Given the description of an element on the screen output the (x, y) to click on. 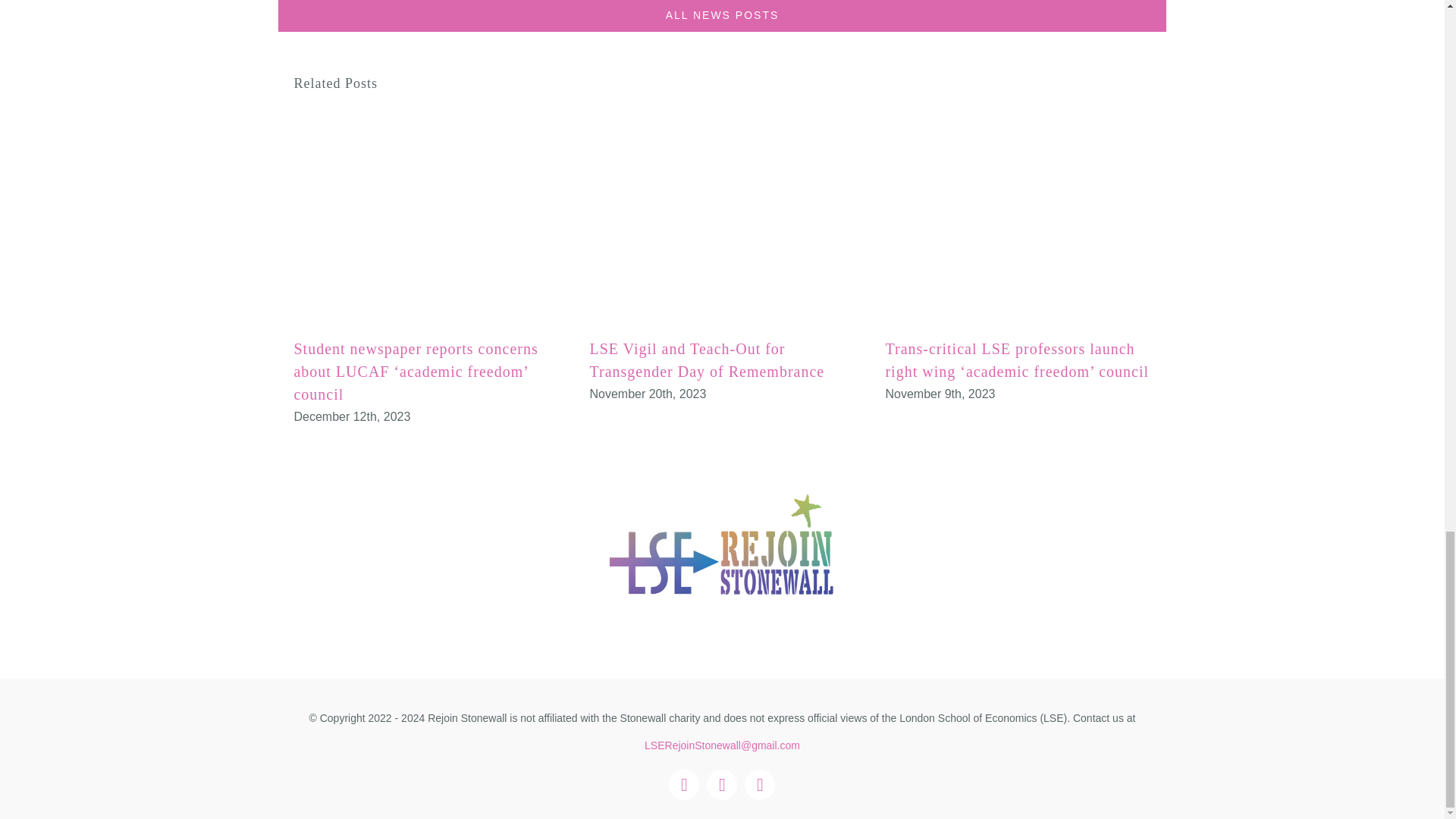
LSE Vigil and Teach-Out for Transgender Day of Remembrance (706, 360)
ALL NEWS POSTS (722, 15)
LSE Vigil and Teach-Out for Transgender Day of Remembrance (706, 360)
